Given the description of an element on the screen output the (x, y) to click on. 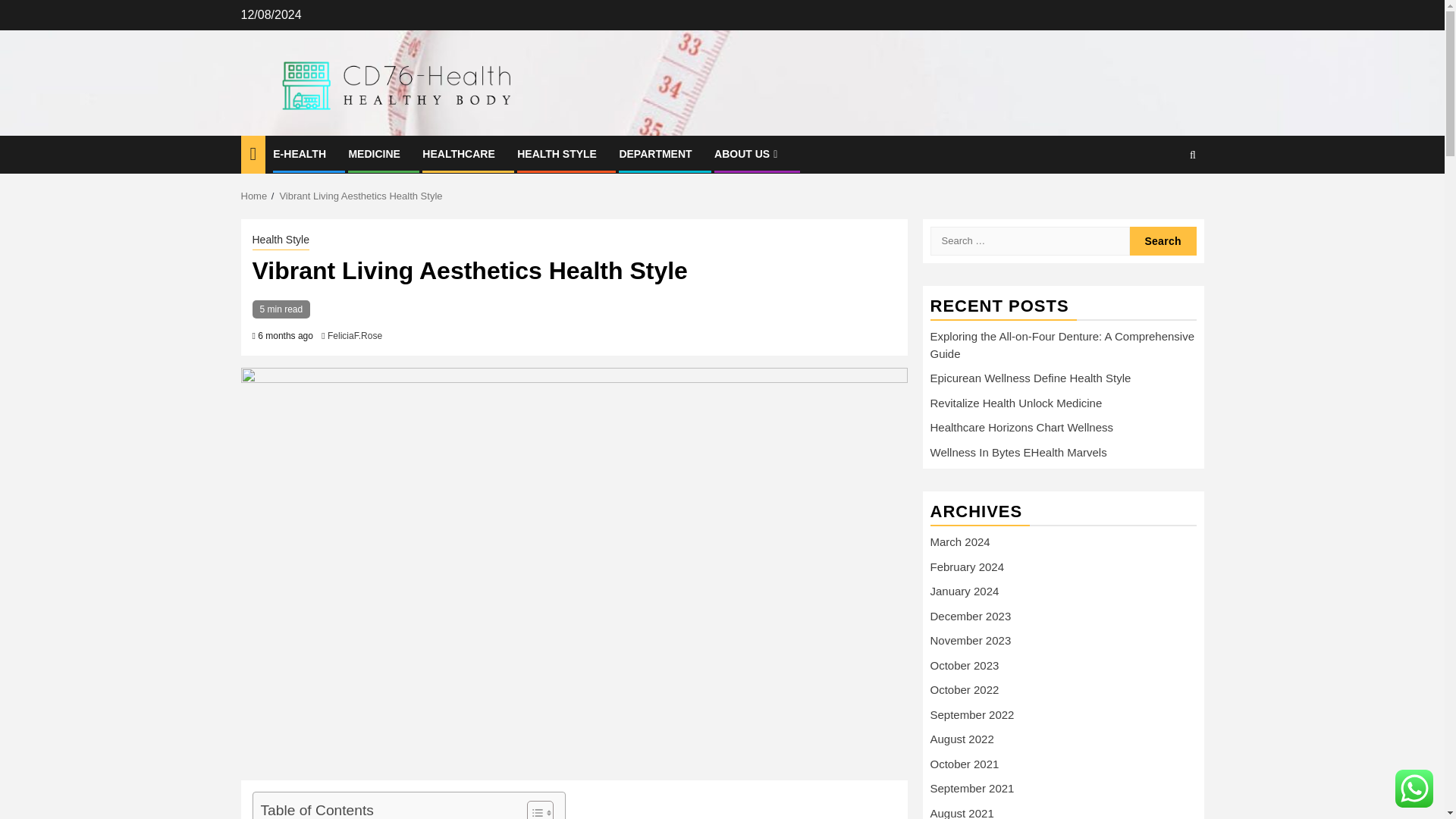
Search (1162, 240)
MEDICINE (372, 153)
Home (254, 195)
HEALTHCARE (458, 153)
DEPARTMENT (654, 153)
Search (1162, 240)
Vibrant Living Aesthetics Health Style (360, 195)
HEALTH STYLE (556, 153)
FeliciaF.Rose (354, 335)
E-HEALTH (299, 153)
